Given the description of an element on the screen output the (x, y) to click on. 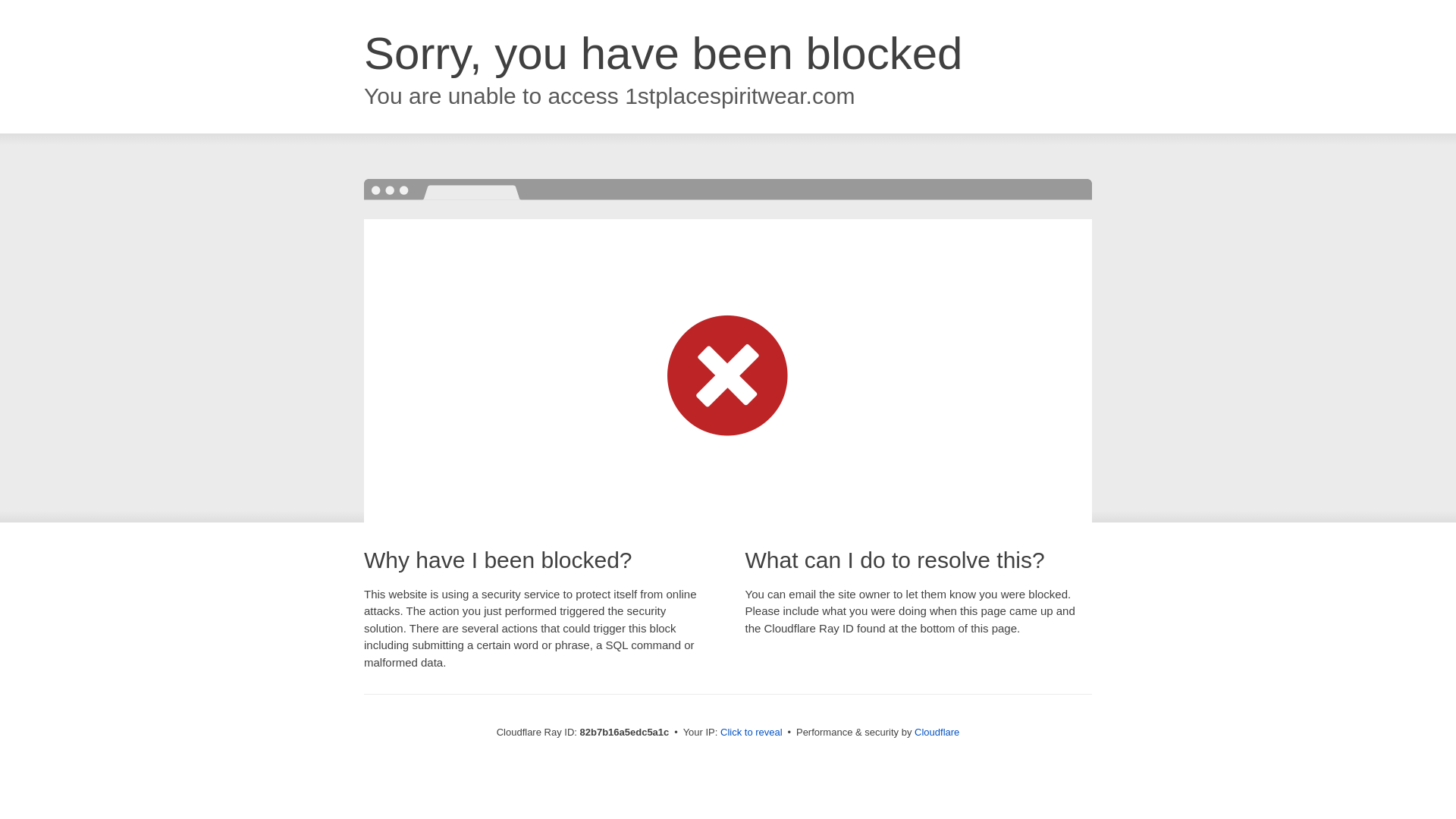
Click to reveal Element type: text (751, 732)
Cloudflare Element type: text (936, 731)
